Given the description of an element on the screen output the (x, y) to click on. 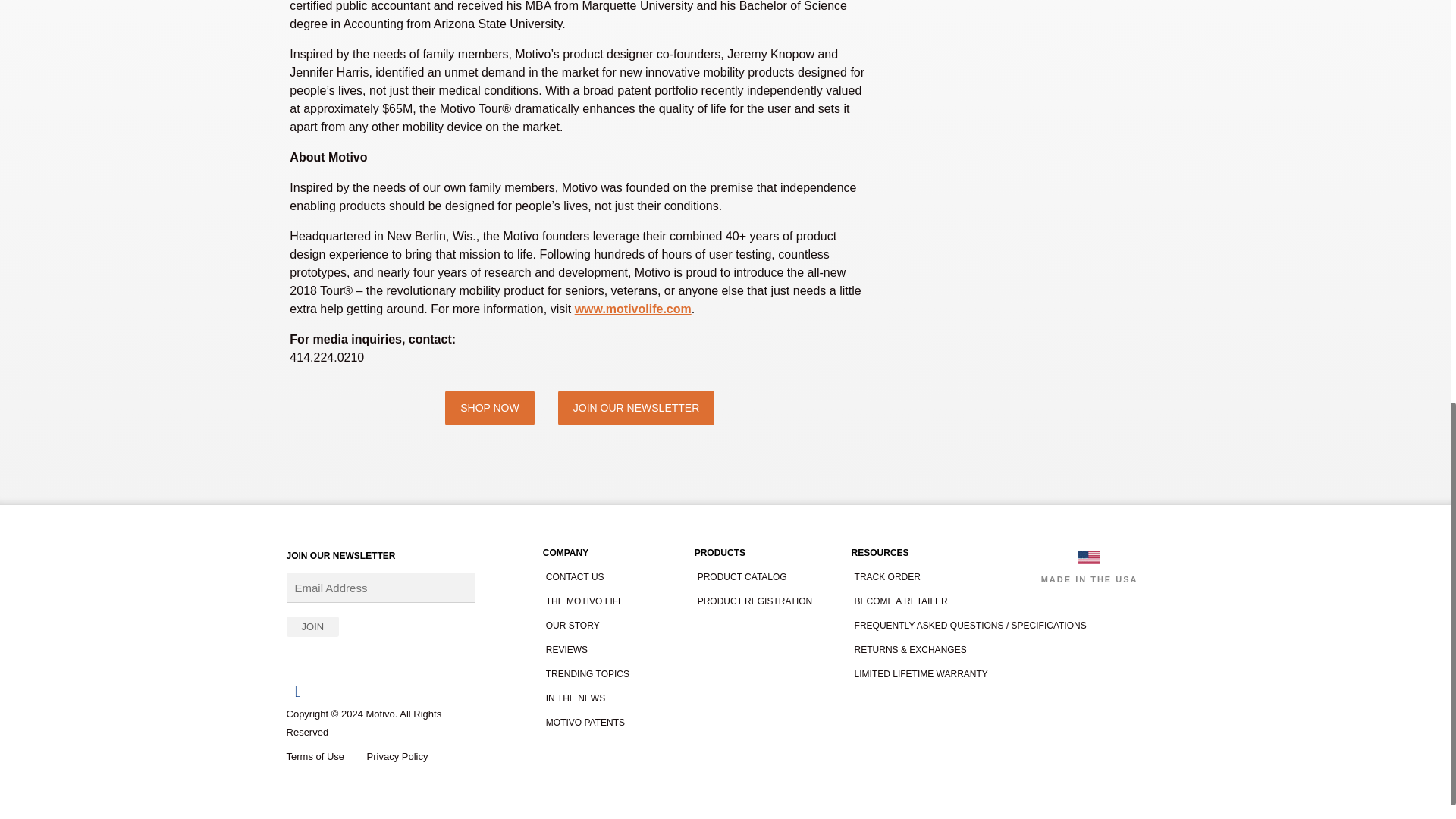
SHOP NOW (489, 407)
www.motivolife.com (633, 308)
Join (312, 626)
JOIN OUR NEWSLETTER (635, 407)
